Given the description of an element on the screen output the (x, y) to click on. 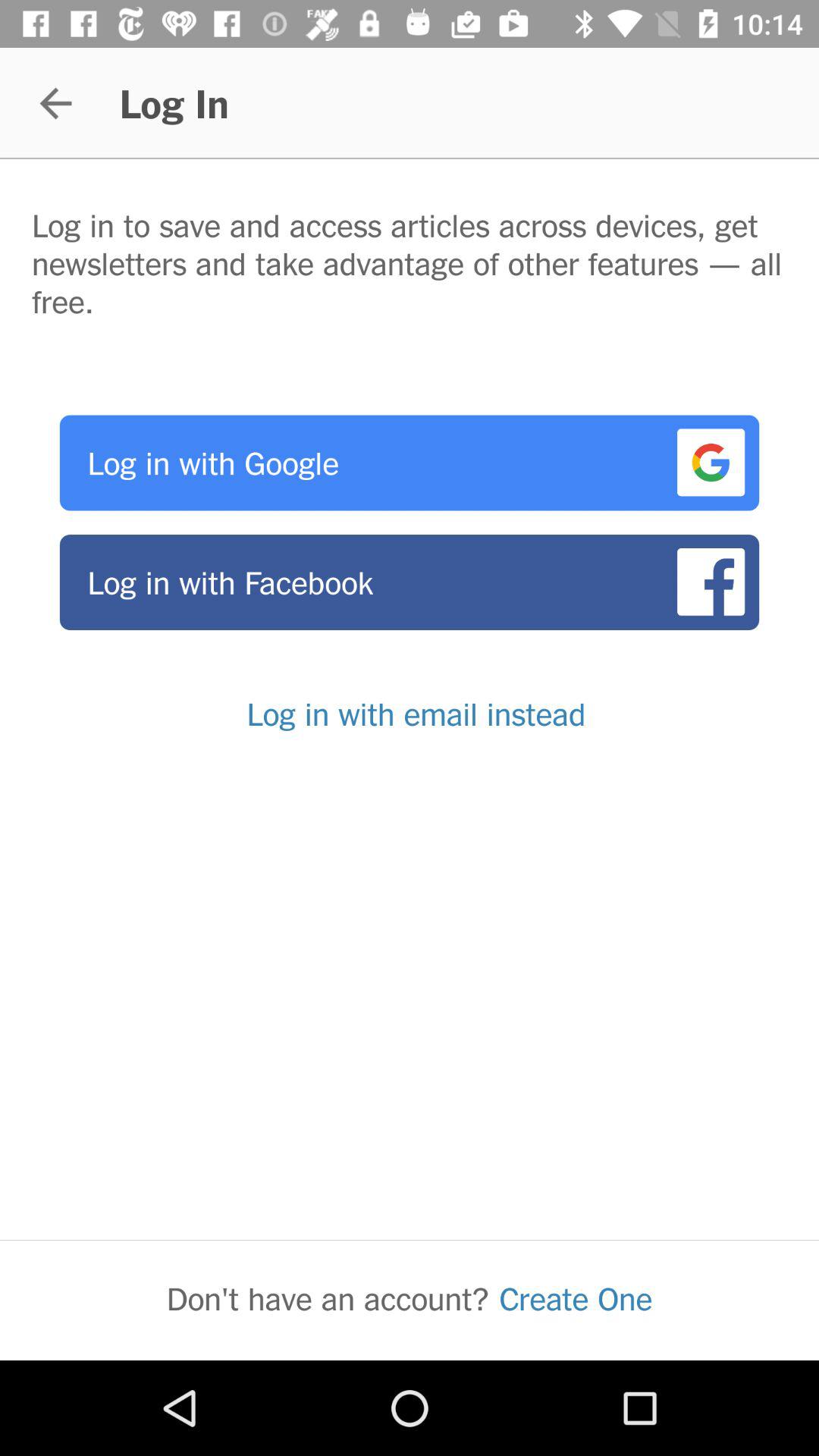
press the item next to the log in app (55, 103)
